Given the description of an element on the screen output the (x, y) to click on. 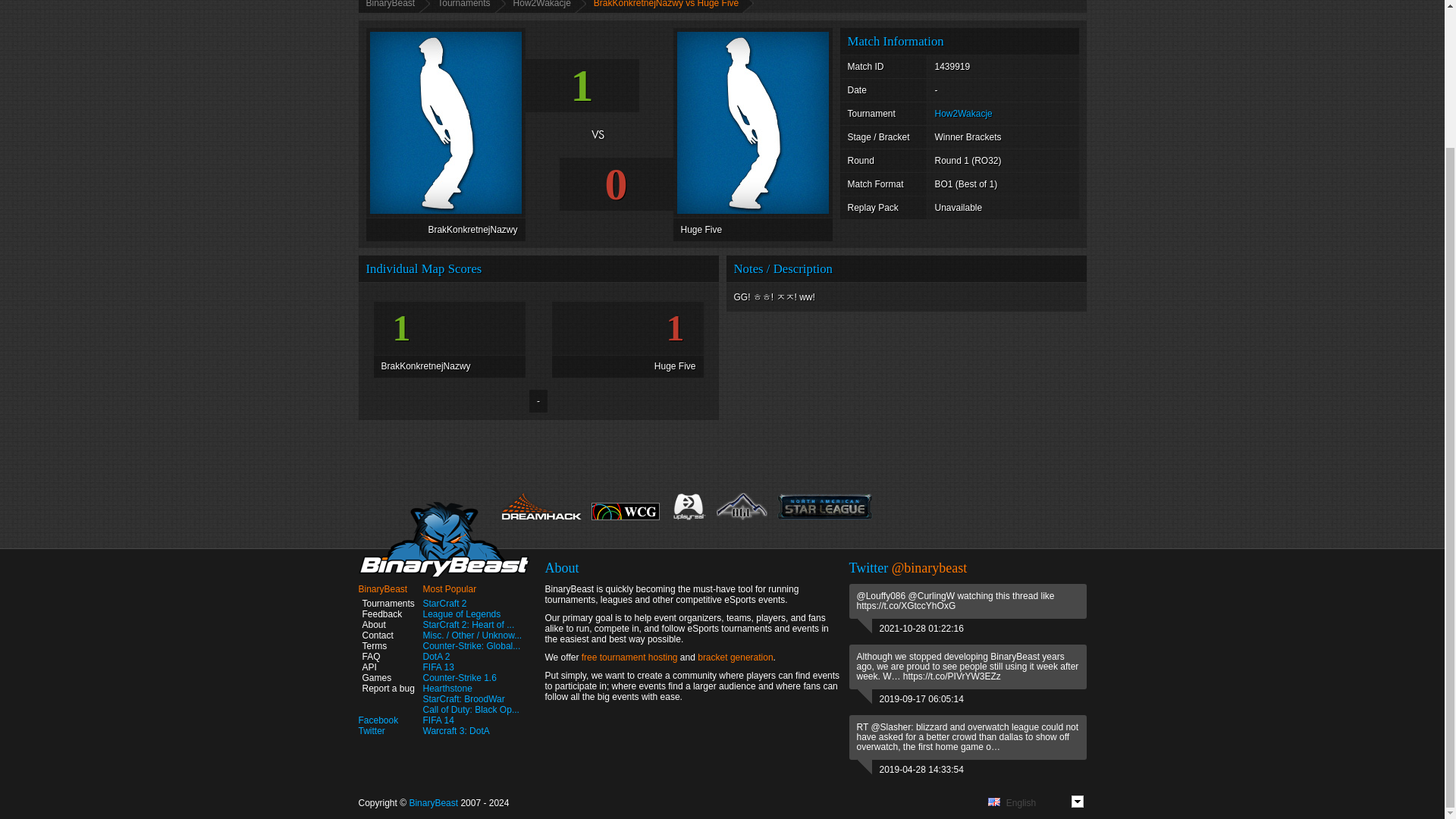
WCG Canada (625, 517)
Dream Hack (541, 508)
Twitter (371, 730)
How2Wakacje (962, 113)
Report a bug (385, 688)
Counter-Strike: Global... (472, 645)
Facebook (377, 719)
DotA 2 (436, 656)
Games (374, 677)
BinaryBeast (393, 6)
StarCraft 2: Heart of ... (469, 624)
Tournaments (385, 603)
API (366, 666)
League of Legends (461, 614)
Altitude Gaming League (741, 508)
